Given the description of an element on the screen output the (x, y) to click on. 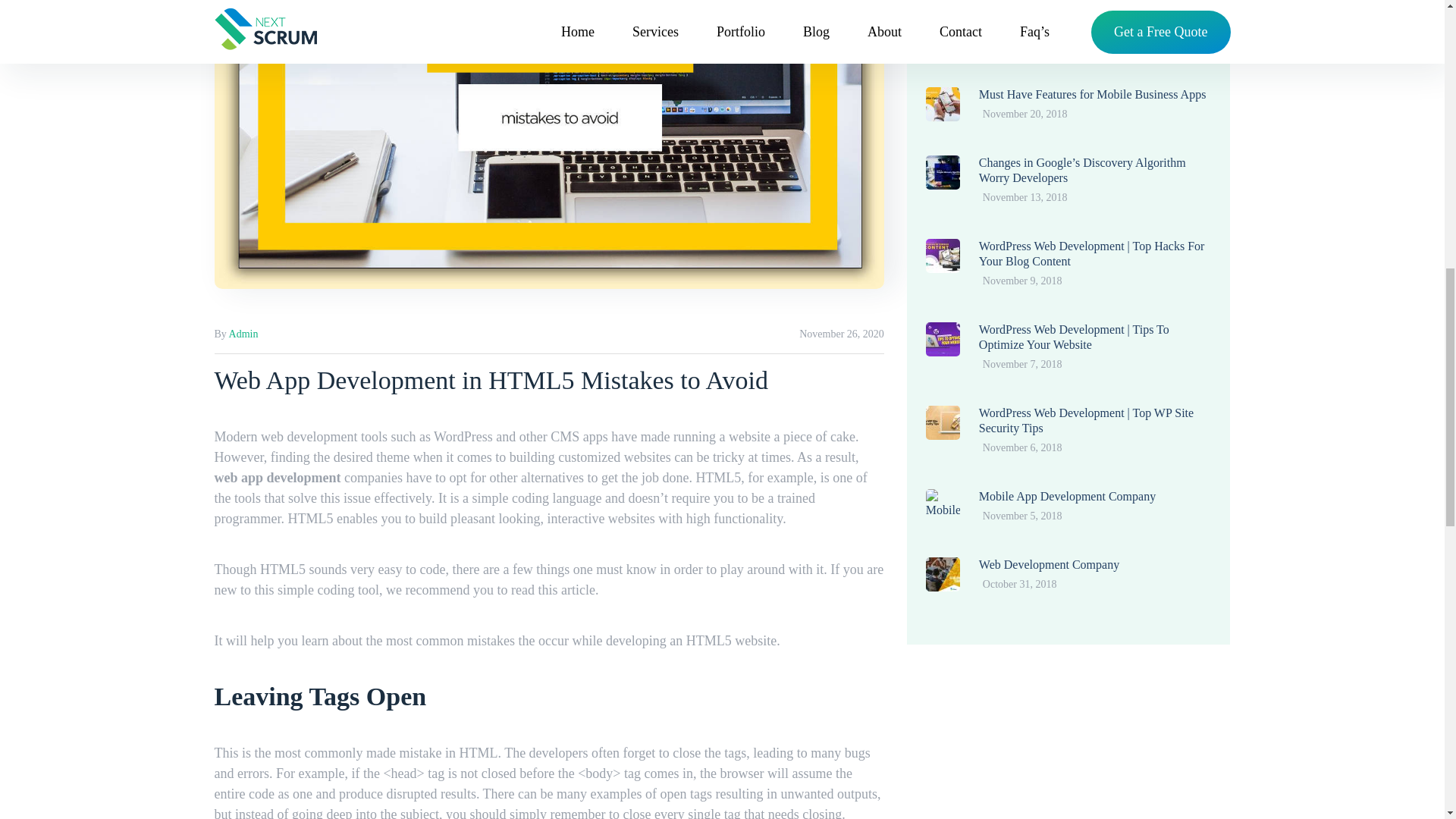
Permalink to The Best Web Solutions Provider (1059, 25)
Permalink to Web Development Company (1048, 563)
Permalink to Must Have Features for Mobile Business Apps (1092, 93)
The Best Web Solutions Provider (1059, 25)
Mobile App Development Company (1067, 495)
Permalink to Mobile App Development Company (1067, 495)
Must Have Features for Mobile Business Apps (1092, 93)
